Given the description of an element on the screen output the (x, y) to click on. 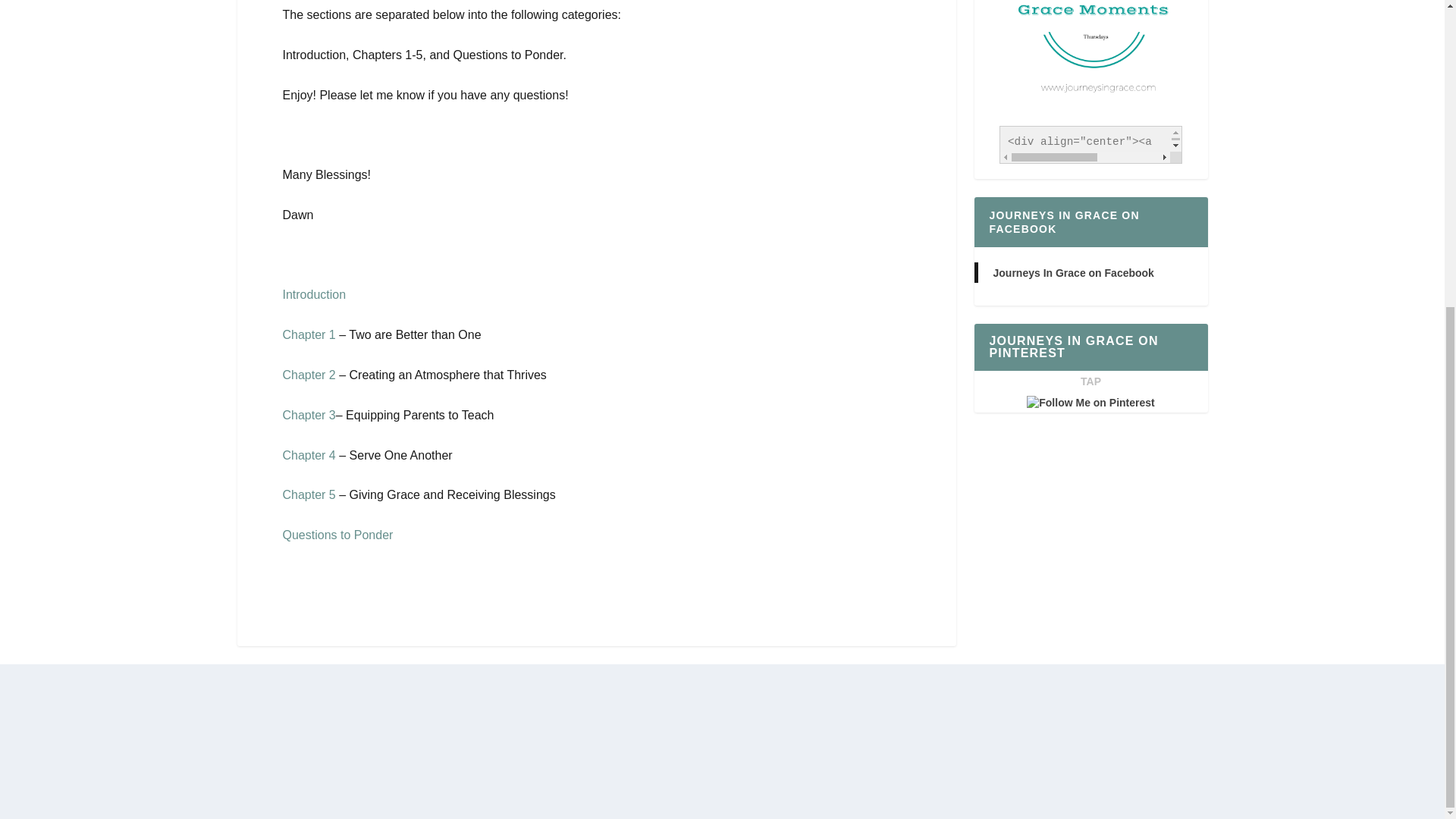
Introduction- Pondering Support (314, 294)
Questions to Ponder (337, 534)
Part 3- Equipping Parents to Teach (308, 414)
Chapter 1 (308, 334)
Grace Moments (1090, 58)
Part 2- Creating an Atmosphere that Thrives (308, 374)
Chapter 2 (308, 374)
Chapter 4 (308, 454)
Chapter 5 (308, 494)
Questions to Consider (337, 534)
Introduction (314, 294)
JOURNEYS IN GRACE ON FACEBOOK (1063, 222)
Chapter 3 (308, 414)
